Given the description of an element on the screen output the (x, y) to click on. 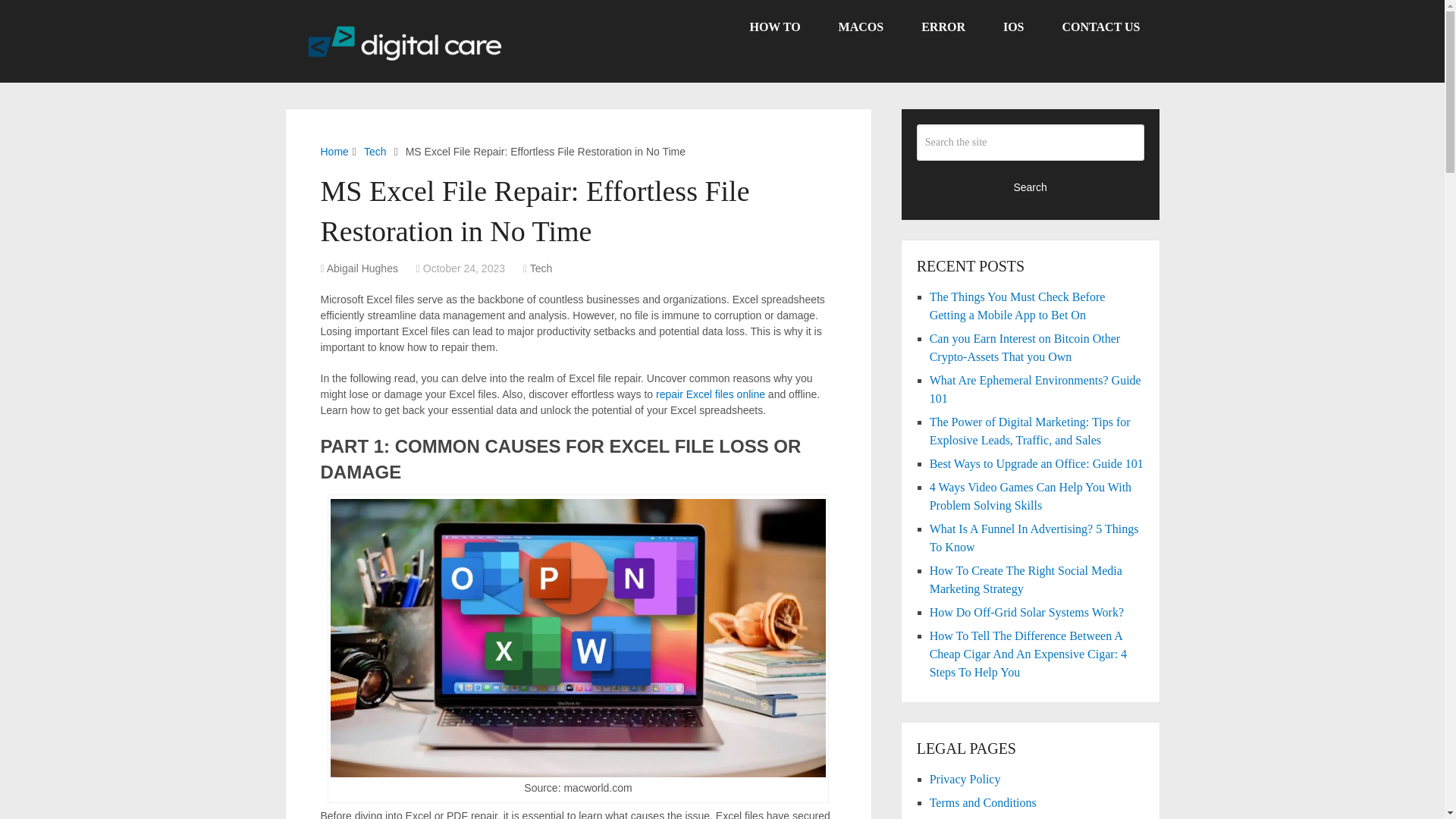
repair Excel files online (710, 394)
Terms and Conditions (983, 802)
Best Ways to Upgrade an Office: Guide 101 (1036, 463)
Search (1030, 186)
Abigail Hughes (361, 268)
4 Ways Video Games Can Help You With Problem Solving Skills (1030, 495)
What Is A Funnel In Advertising? 5 Things To Know (1034, 537)
HOW TO (774, 27)
IOS (1013, 27)
What Are Ephemeral Environments? Guide 101 (1035, 388)
Tech (375, 151)
ERROR (943, 27)
CONTACT US (1100, 27)
